Given the description of an element on the screen output the (x, y) to click on. 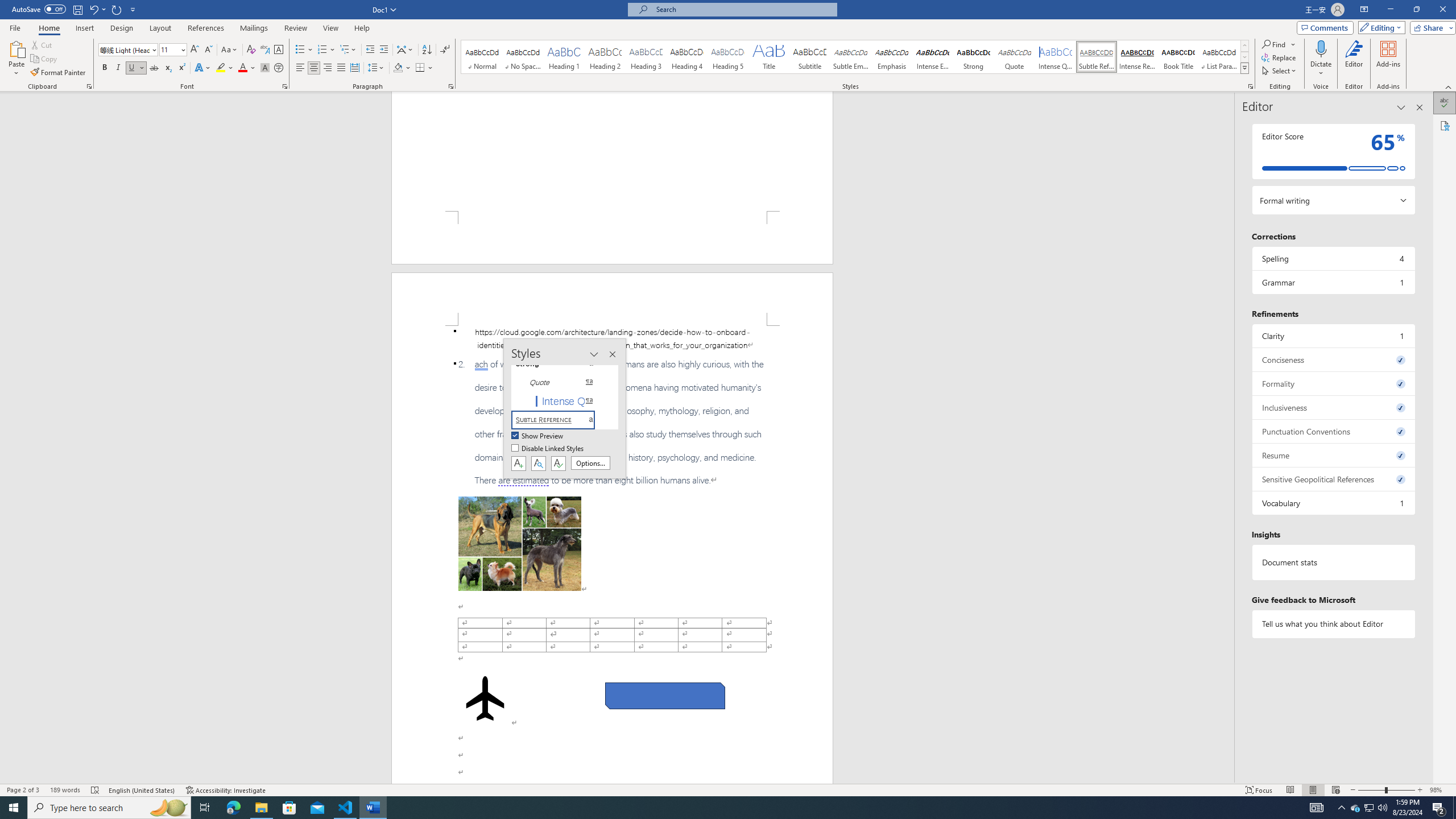
2. (611, 422)
Airplane with solid fill (485, 697)
Find (1278, 44)
Open (182, 49)
Strikethrough (154, 67)
Format Painter (58, 72)
Zoom (1386, 790)
Italic (118, 67)
Book Title (1177, 56)
Bold (104, 67)
